Given the description of an element on the screen output the (x, y) to click on. 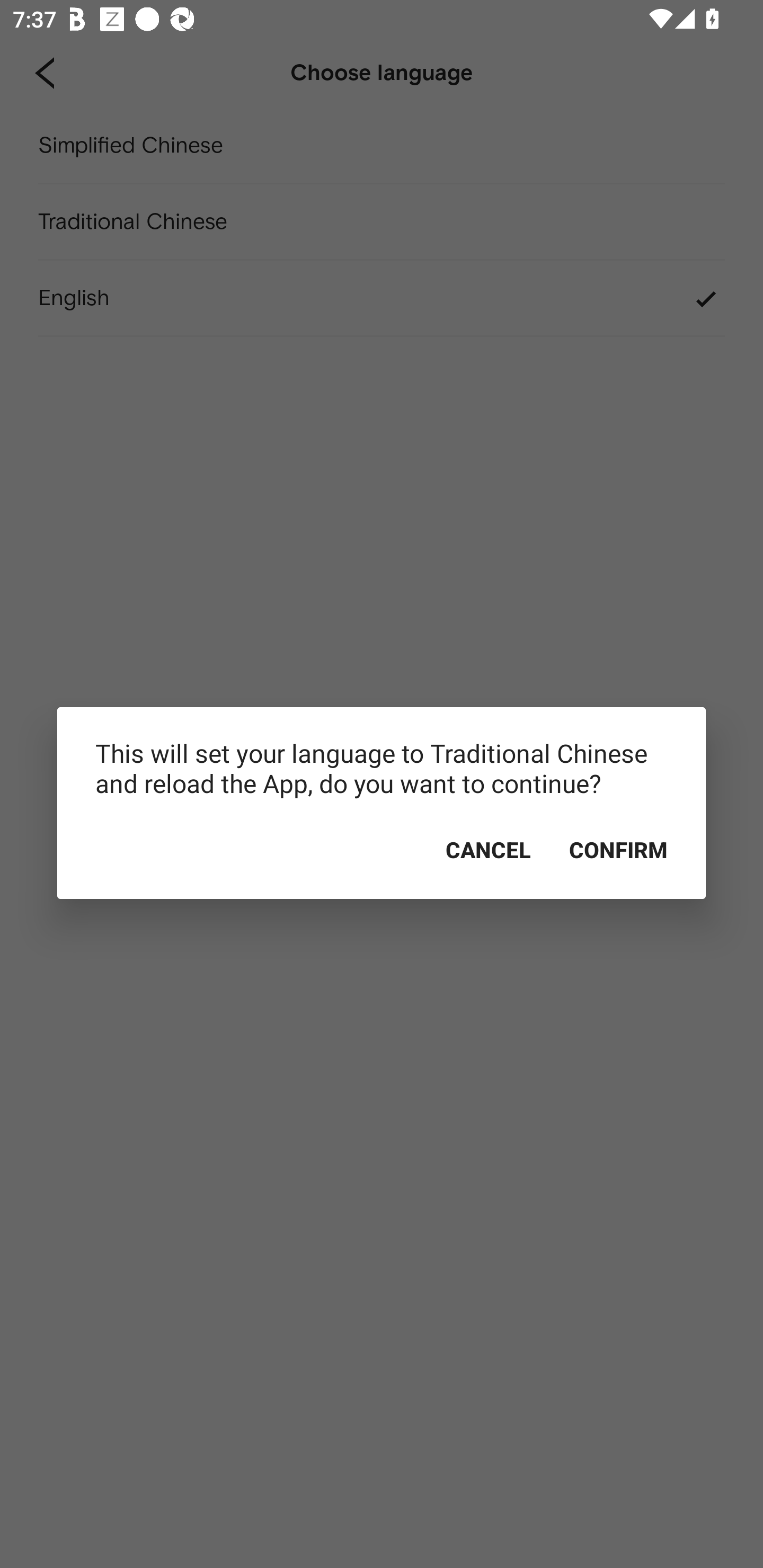
CANCEL (488, 849)
CONFIRM (618, 849)
